Given the description of an element on the screen output the (x, y) to click on. 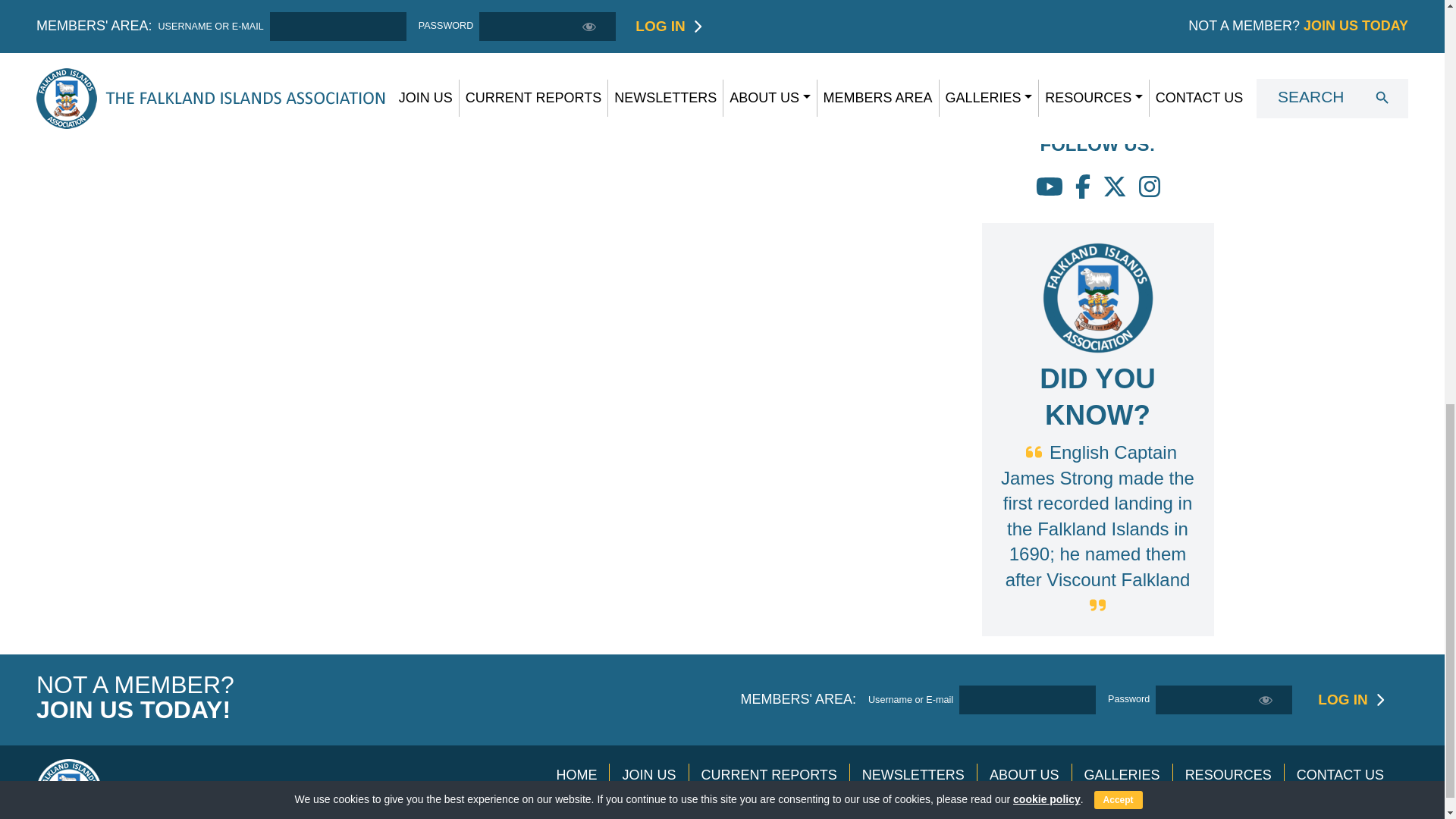
Log In (1342, 699)
BOOK REVIEW: THE SHIP BENEATH THE ICE (1092, 11)
JOIN US TODAY! (133, 709)
